Given the description of an element on the screen output the (x, y) to click on. 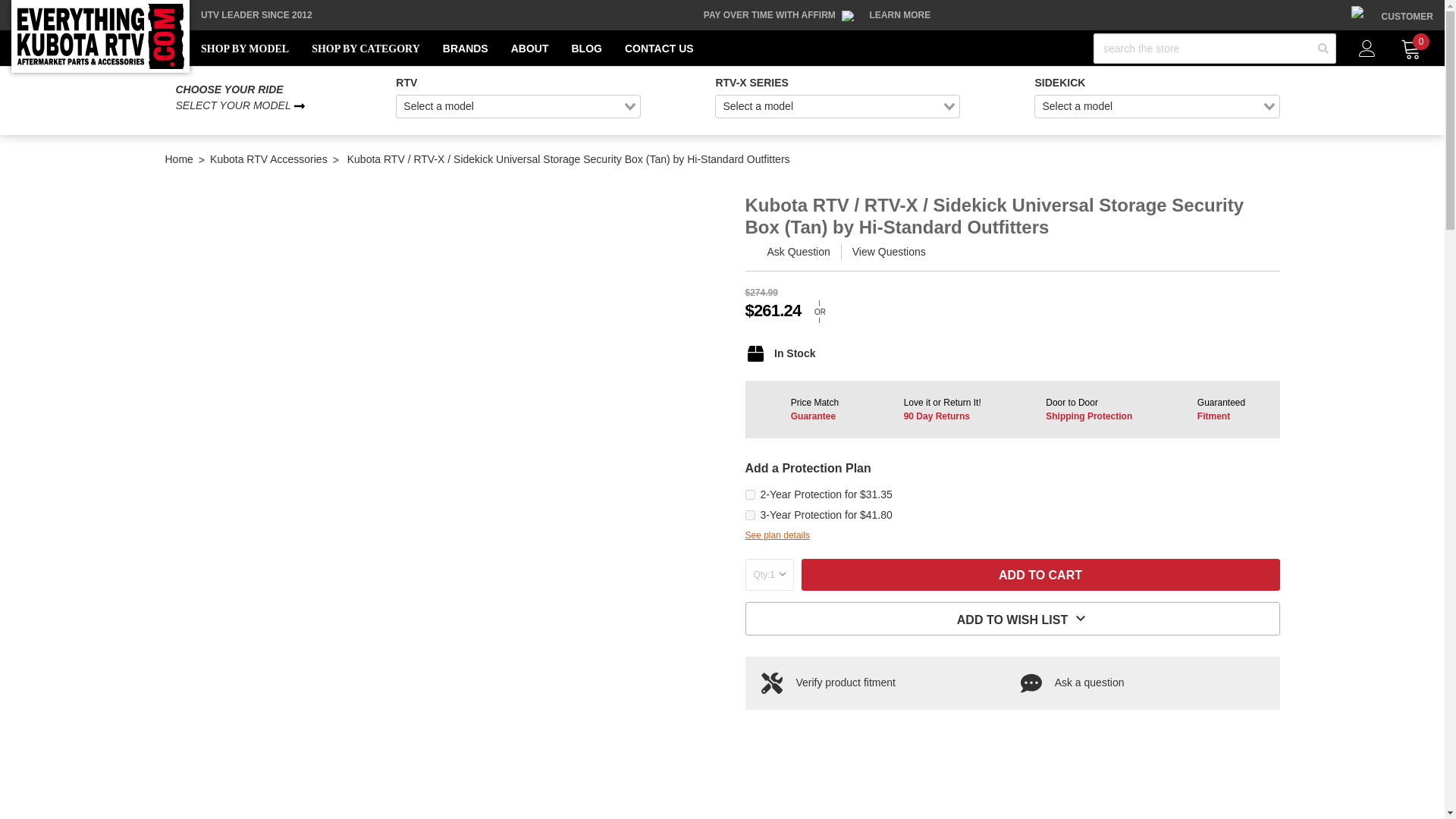
SHOP BY MODEL (244, 48)
Everything Kubota RTV (100, 36)
3 (749, 515)
2 (749, 494)
Add to Cart (1039, 574)
LEARN MORE (900, 14)
UTV LEADER SINCE 2012 (256, 14)
SHOP BY CATEGORY (365, 48)
